Given the description of an element on the screen output the (x, y) to click on. 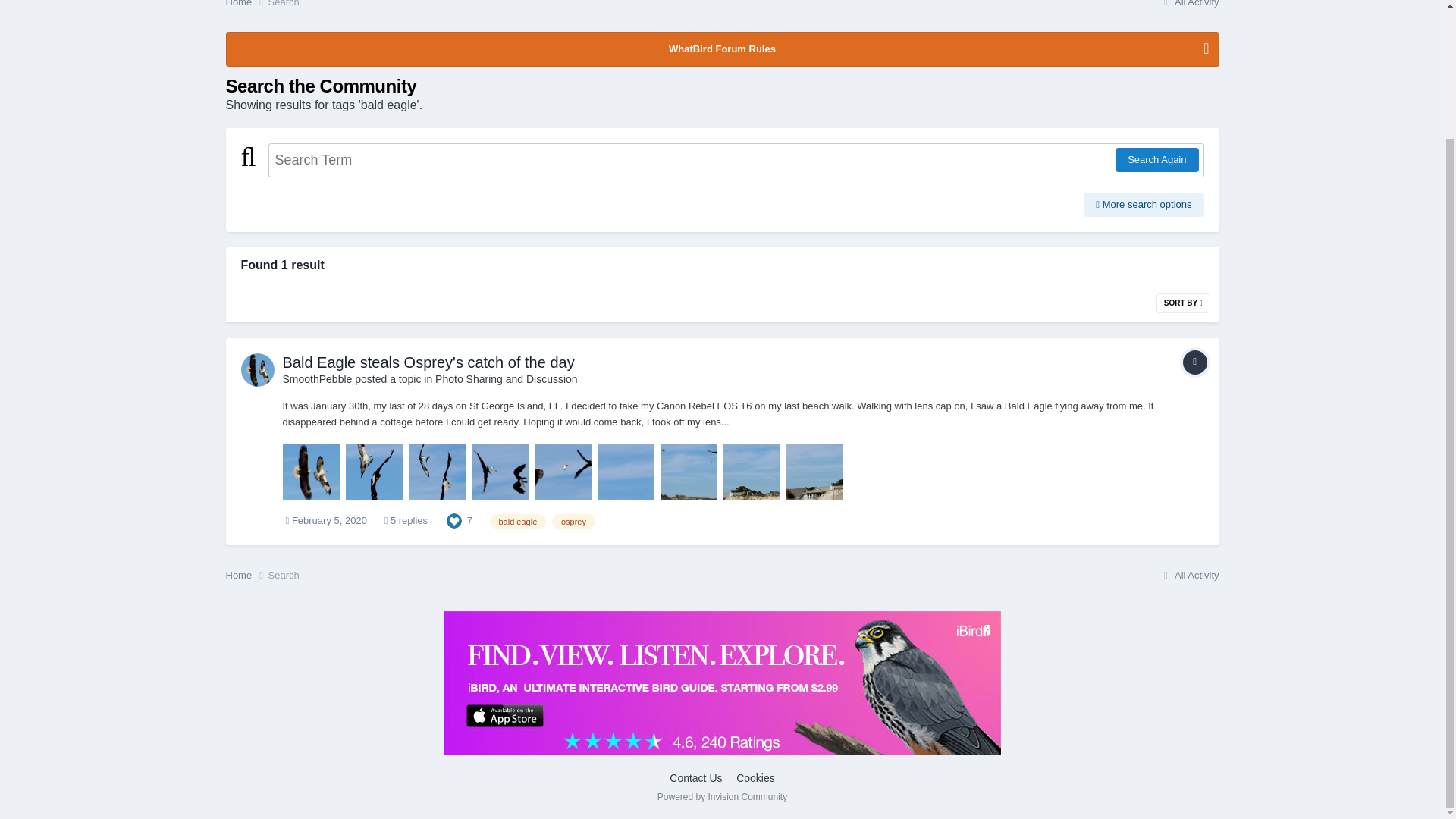
Home (246, 4)
Home (246, 575)
Go to SmoothPebble's profile (258, 369)
Find other content tagged with 'osprey' (573, 521)
Search Again (1156, 159)
Home (246, 4)
Like (454, 520)
More search options (1143, 204)
Invision Community (722, 796)
Go to SmoothPebble's profile (317, 378)
